Given the description of an element on the screen output the (x, y) to click on. 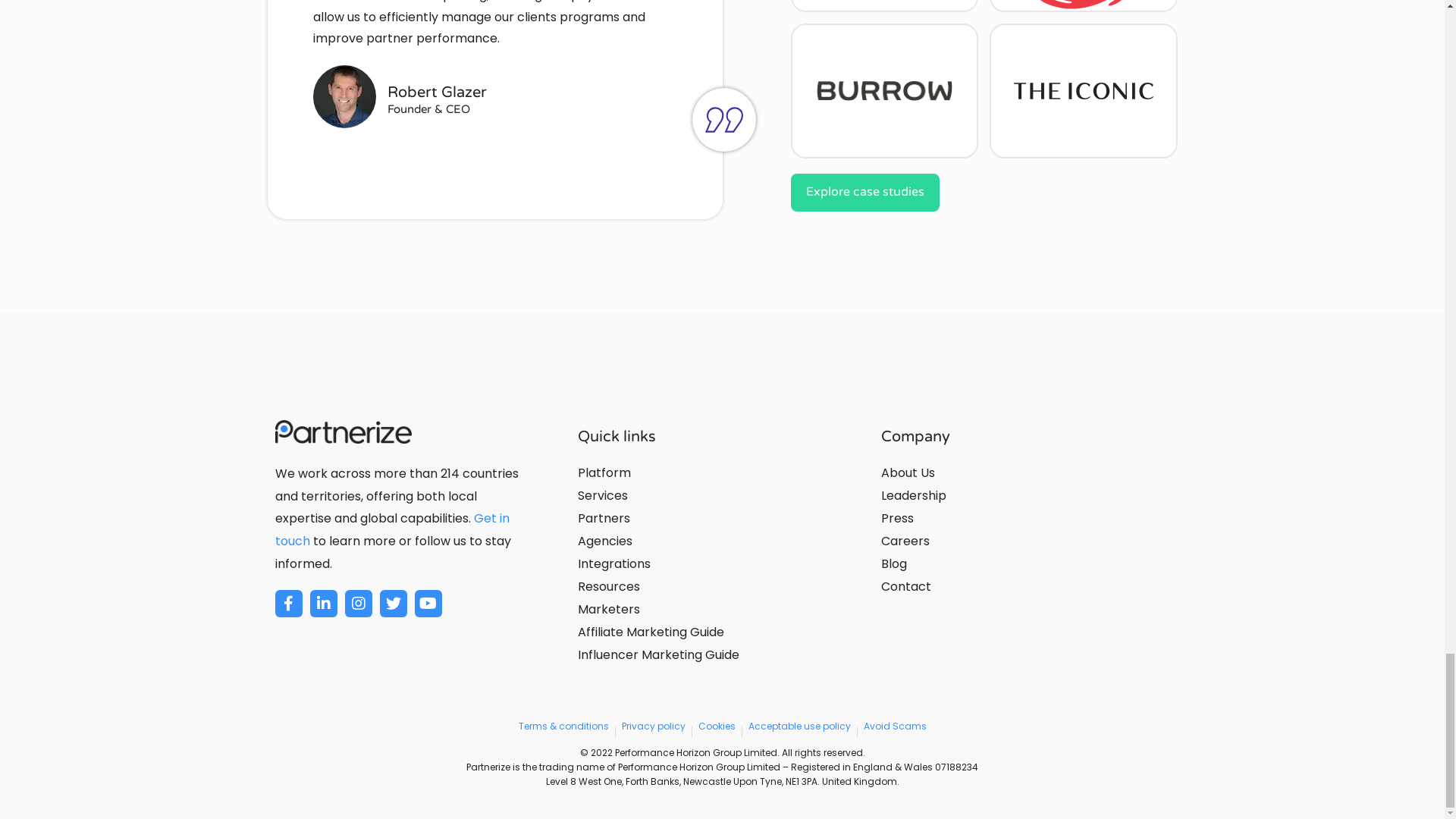
Partnerize Logo (342, 432)
Explore case studies (864, 192)
